Given the description of an element on the screen output the (x, y) to click on. 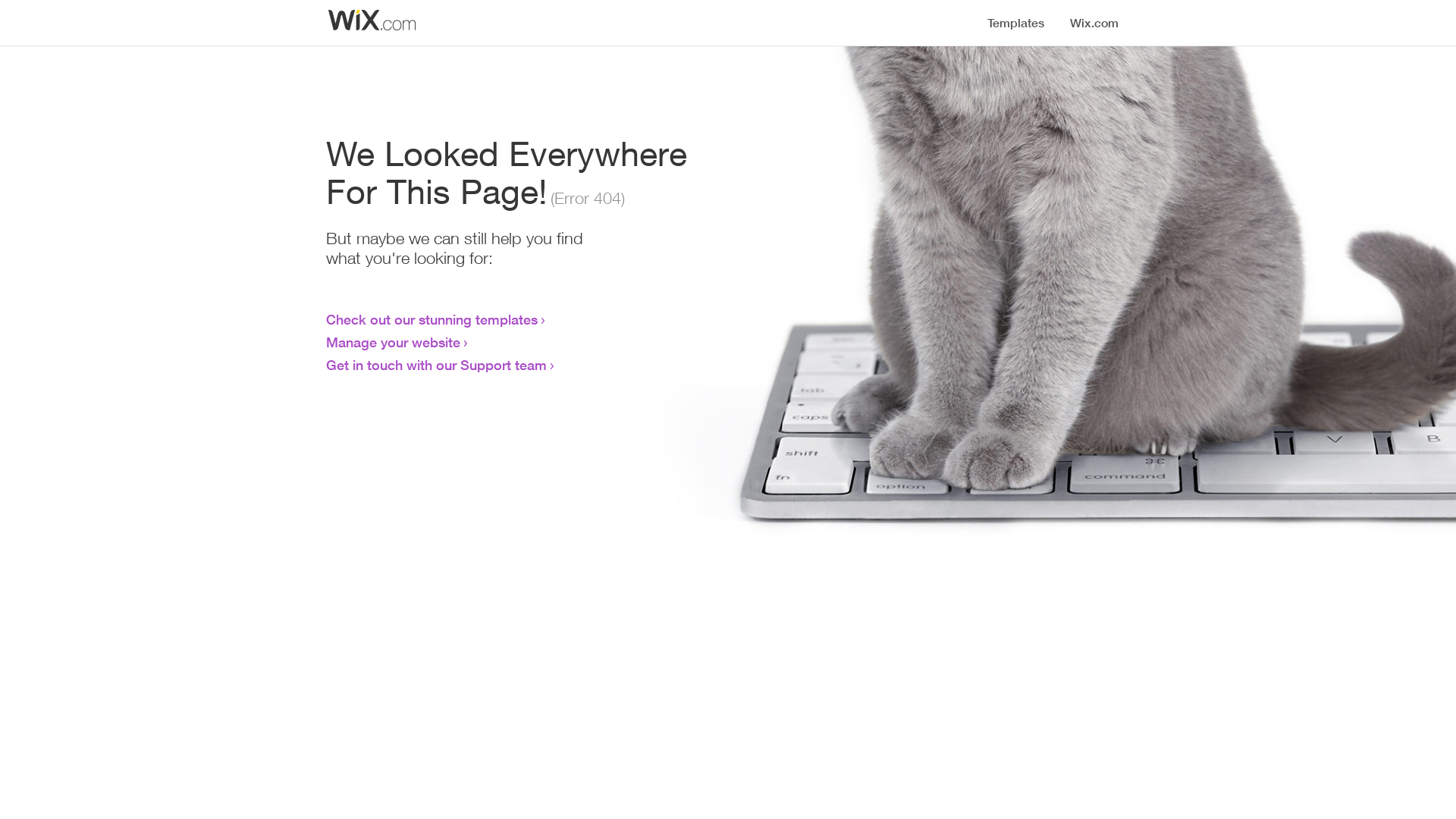
Check out our stunning templates Element type: text (431, 318)
Manage your website Element type: text (393, 341)
Get in touch with our Support team Element type: text (436, 364)
